Given the description of an element on the screen output the (x, y) to click on. 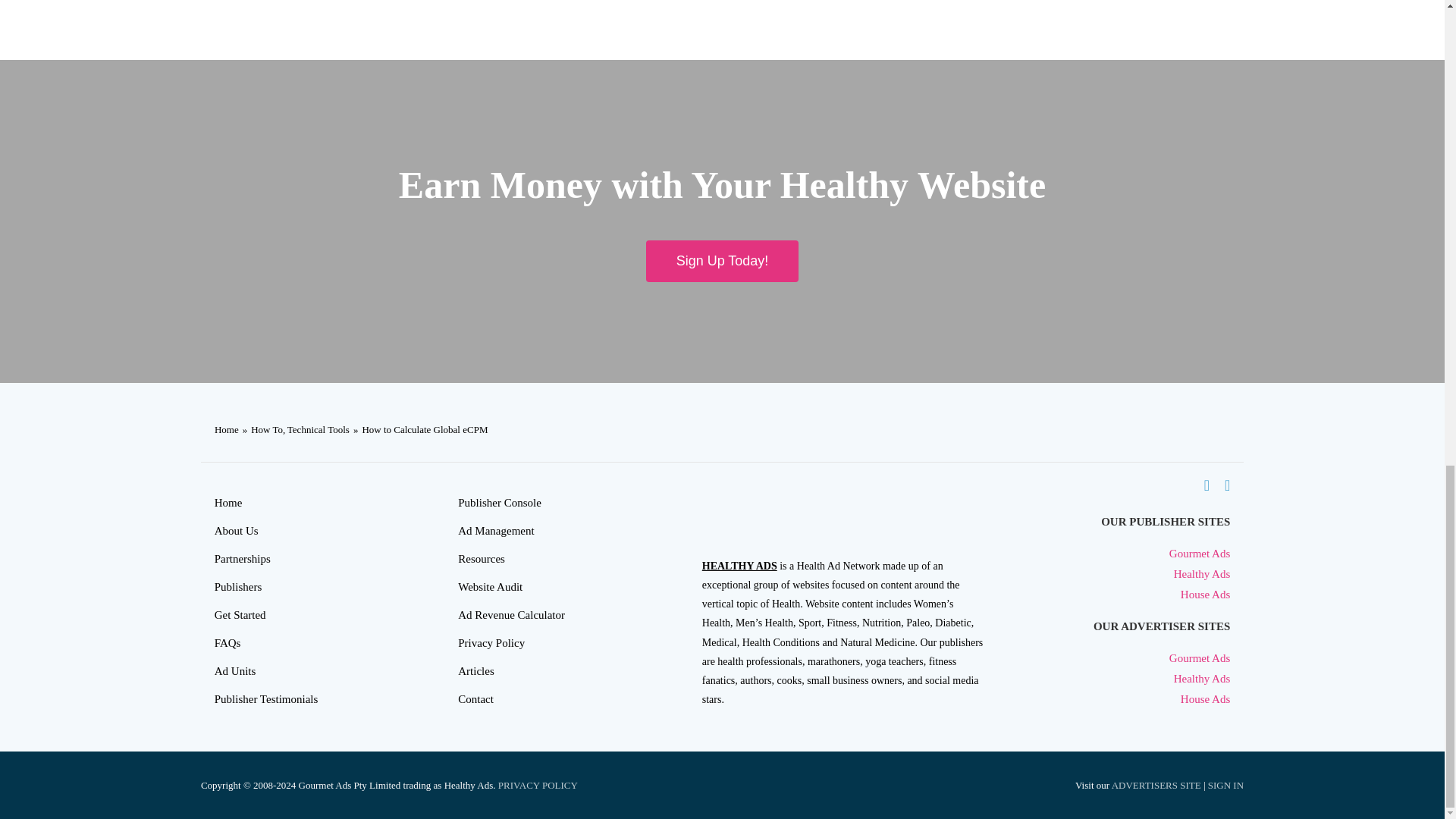
How To (266, 429)
About Us (302, 530)
Home (302, 503)
Sign Up Today! (722, 260)
Technical Tools (317, 429)
Home (226, 429)
